Given the description of an element on the screen output the (x, y) to click on. 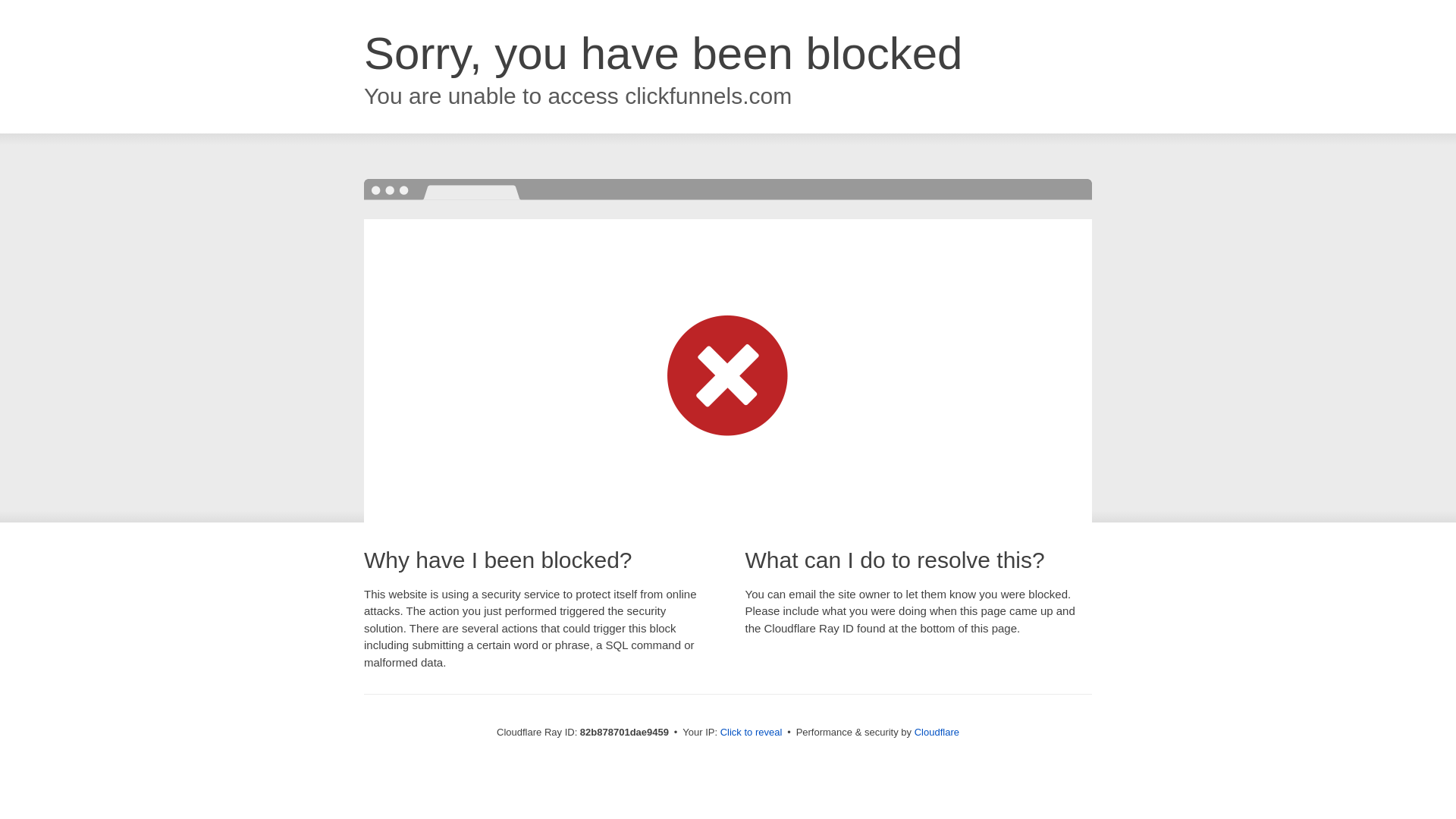
Click to reveal Element type: text (751, 732)
Cloudflare Element type: text (936, 731)
